Given the description of an element on the screen output the (x, y) to click on. 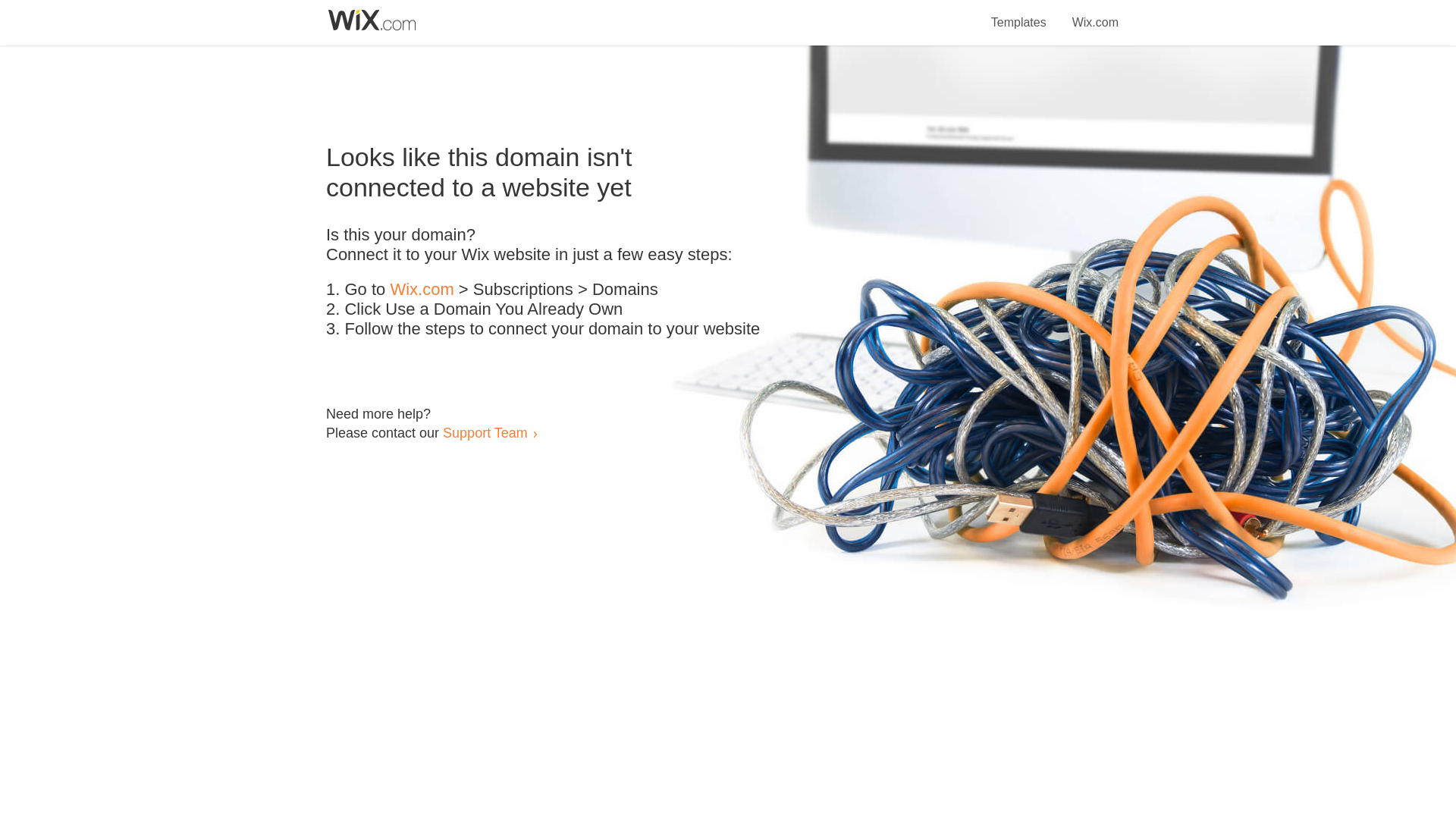
Support Team (484, 432)
Wix.com (421, 289)
Templates (1018, 14)
Wix.com (1095, 14)
